Given the description of an element on the screen output the (x, y) to click on. 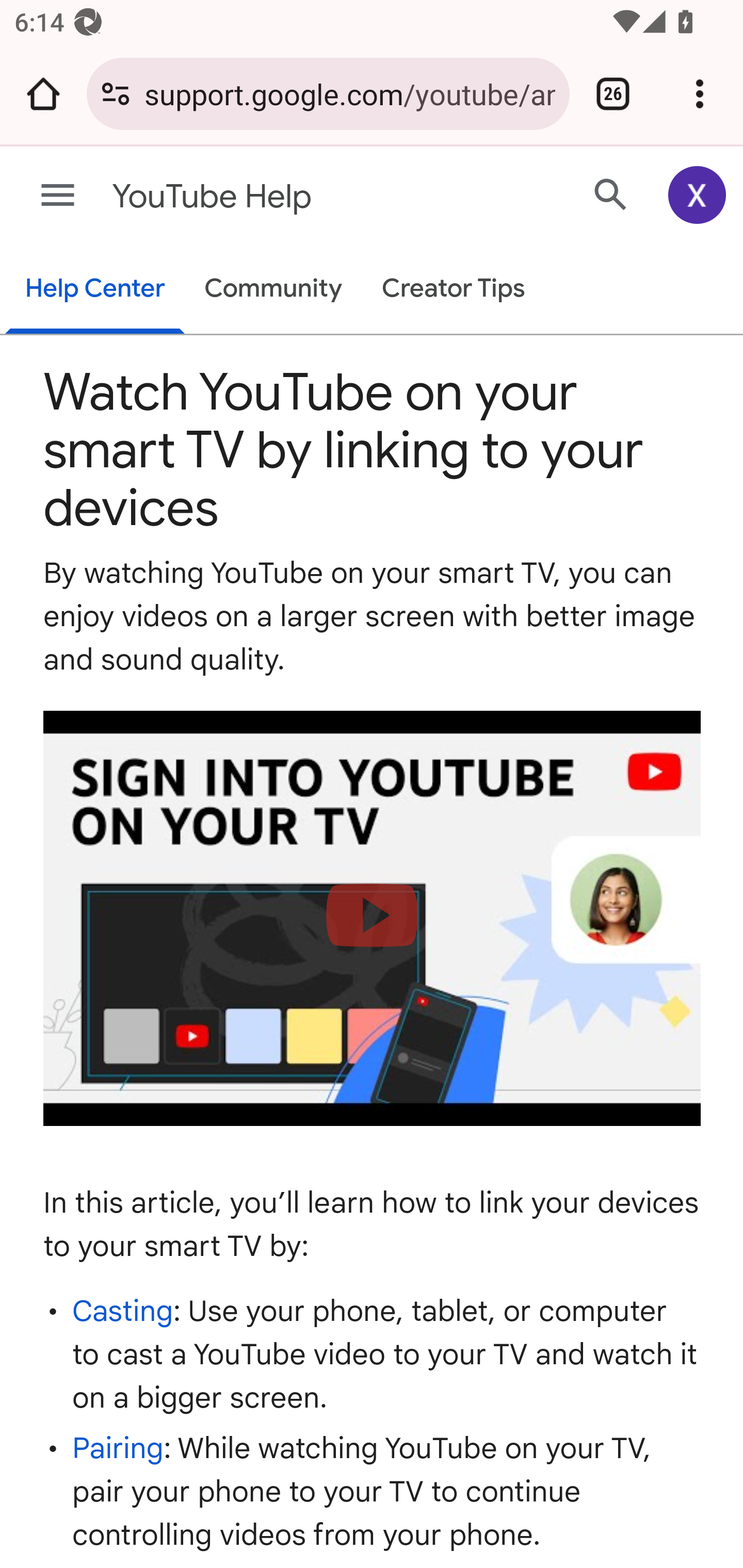
Open the home page (43, 93)
Connection is secure (115, 93)
Switch or close tabs (612, 93)
Customize and control Google Chrome (699, 93)
support.google.com/youtube/answer/7640706?hl=%@ (349, 92)
Main menu (58, 195)
YouTube Help (292, 197)
Search Help Center (611, 194)
Google Account: Xiaoran (zxrappiumtest@gmail.com) (697, 195)
Help Center (94, 289)
Community (273, 289)
Creator Tips (453, 289)
Load video (372, 918)
Casting (123, 1310)
Pairing (118, 1448)
